Given the description of an element on the screen output the (x, y) to click on. 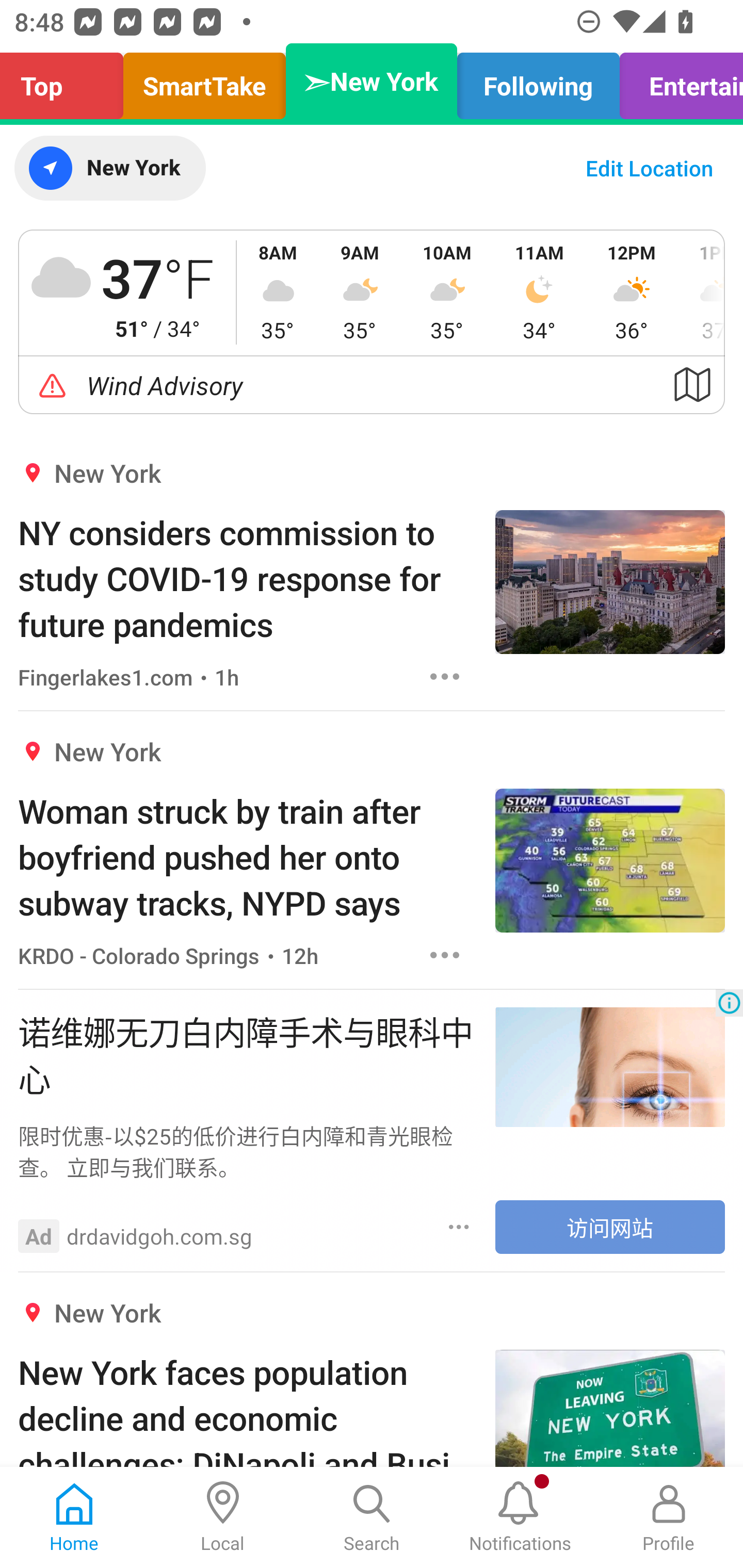
Top (67, 81)
SmartTake (204, 81)
➣New York (371, 81)
Following (538, 81)
New York (109, 168)
Edit Location (648, 168)
8AM 35° (277, 291)
9AM 35° (359, 291)
10AM 35° (447, 291)
11AM 34° (539, 291)
12PM 36° (631, 291)
Wind Advisory (371, 384)
Options (444, 676)
Options (444, 954)
Ad Choices Icon (729, 1002)
诺维娜无刀白内障手术与眼科中心 (247, 1053)
限时优惠-以$25的低价进行白内障和青光眼检查。 立即与我们联系。 (247, 1150)
访问网站 (610, 1226)
Options (459, 1226)
drdavidgoh.com.sg (159, 1236)
Local (222, 1517)
Search (371, 1517)
Notifications, New notification Notifications (519, 1517)
Profile (668, 1517)
